Given the description of an element on the screen output the (x, y) to click on. 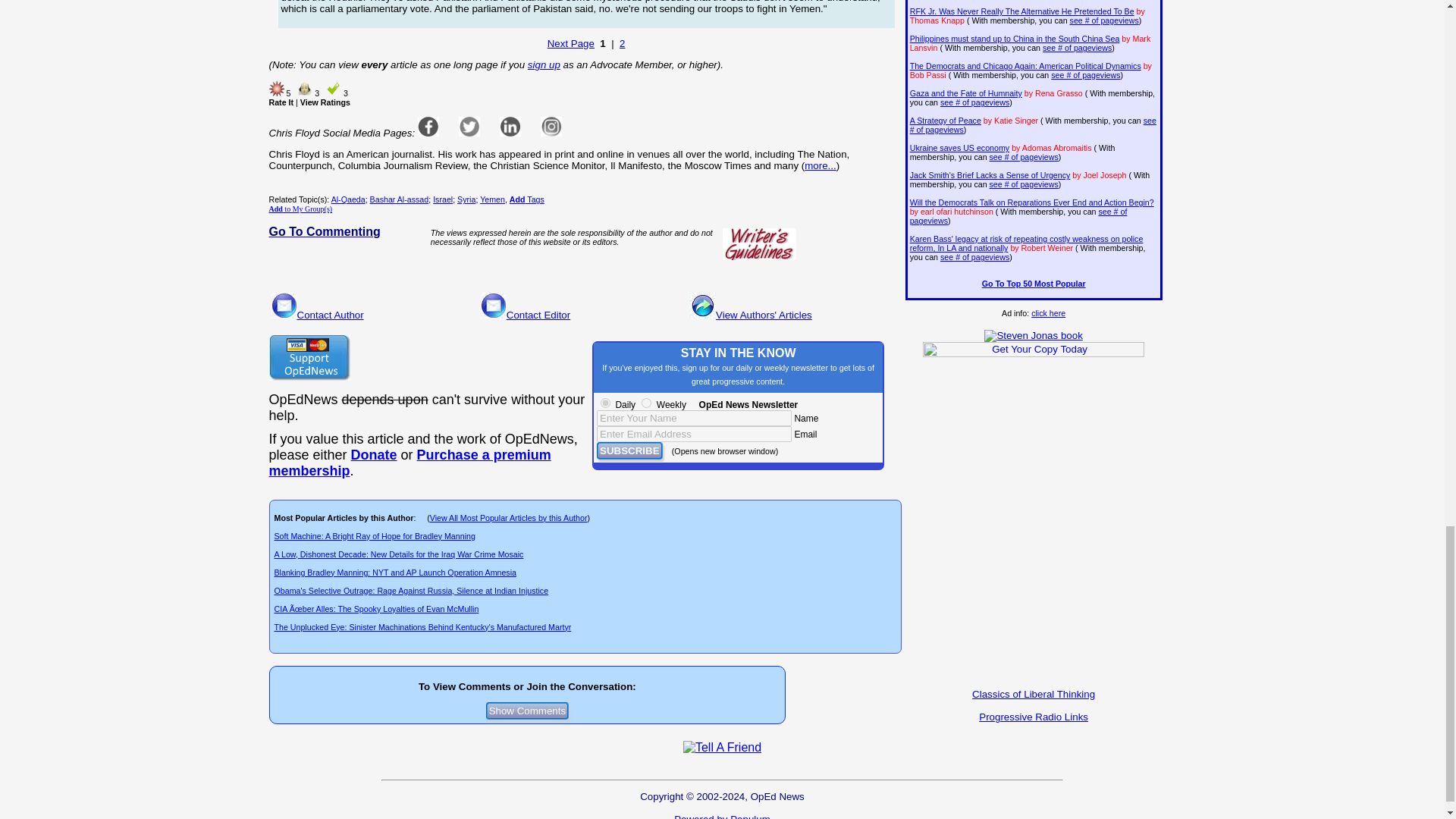
Linkedin page url on login Profile not filled in (510, 126)
Support OpEdNews (308, 357)
-- (408, 462)
Yemen (492, 198)
Valuable (333, 88)
Israel (442, 198)
Enter Email Address (694, 433)
Instagram page url on login Profile not filled in (551, 126)
sign up (543, 64)
SUBSCRIBE (629, 450)
